Given the description of an element on the screen output the (x, y) to click on. 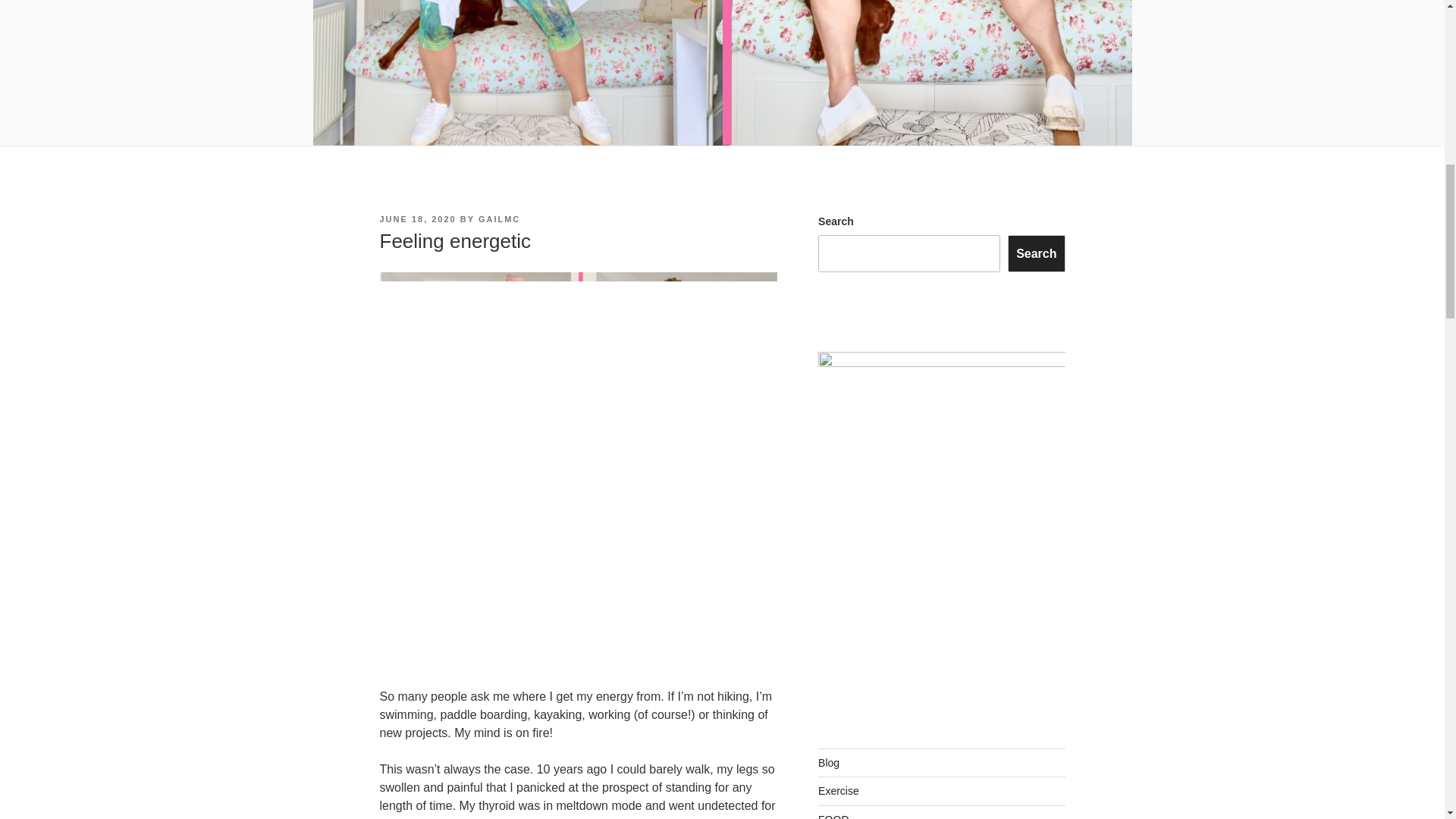
Blog (829, 762)
Exercise (838, 790)
JUNE 18, 2020 (416, 218)
FOOD (833, 816)
Search (1035, 253)
GAILMC (499, 218)
